Given the description of an element on the screen output the (x, y) to click on. 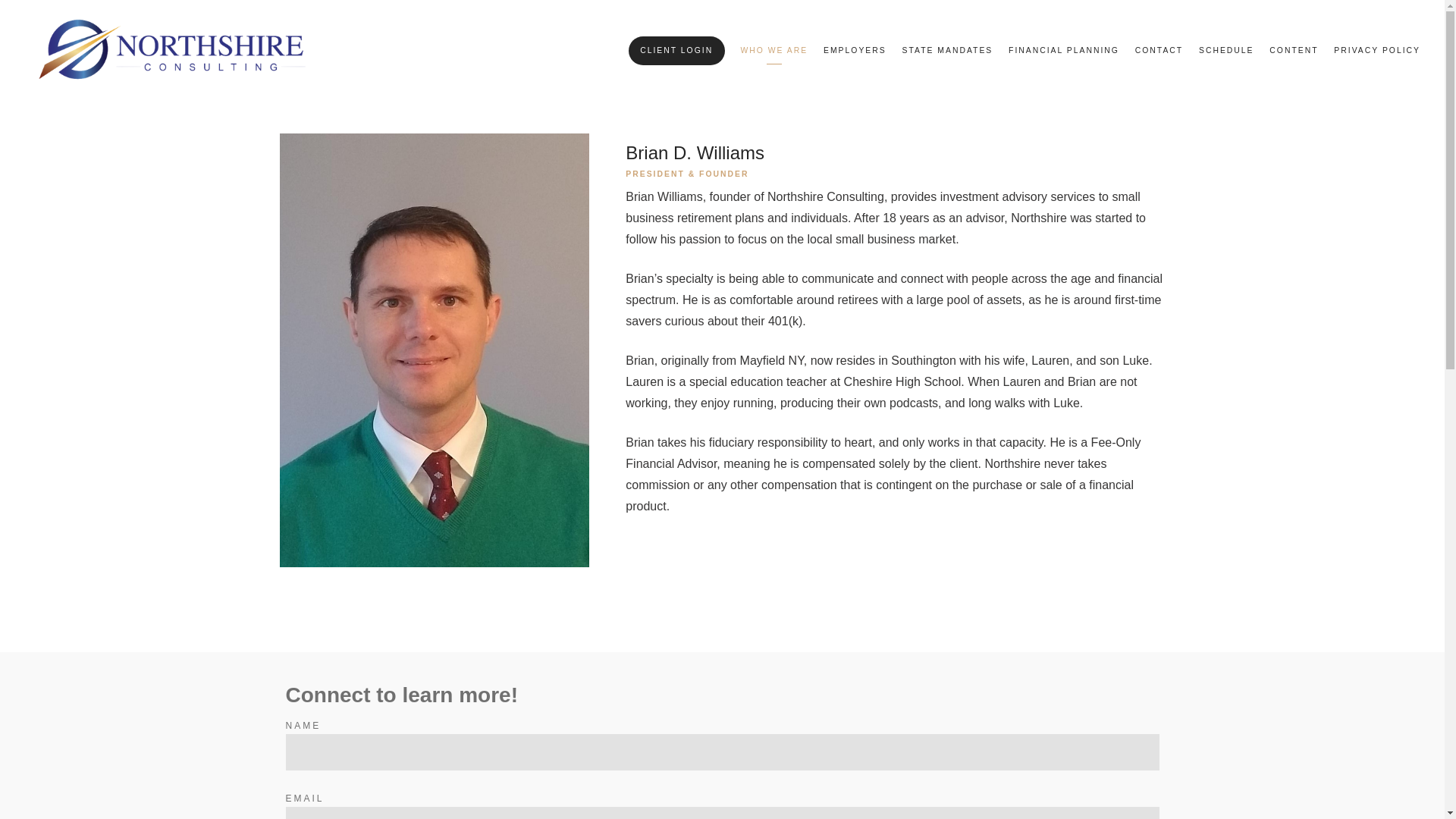
STATE MANDATES (946, 51)
CONTENT (1293, 51)
CONTACT (1158, 51)
WHO WE ARE (774, 51)
SCHEDULE (1225, 51)
PRIVACY POLICY (1377, 51)
EMPLOYERS (855, 51)
FINANCIAL PLANNING (1064, 51)
CLIENT LOGIN (676, 51)
